Given the description of an element on the screen output the (x, y) to click on. 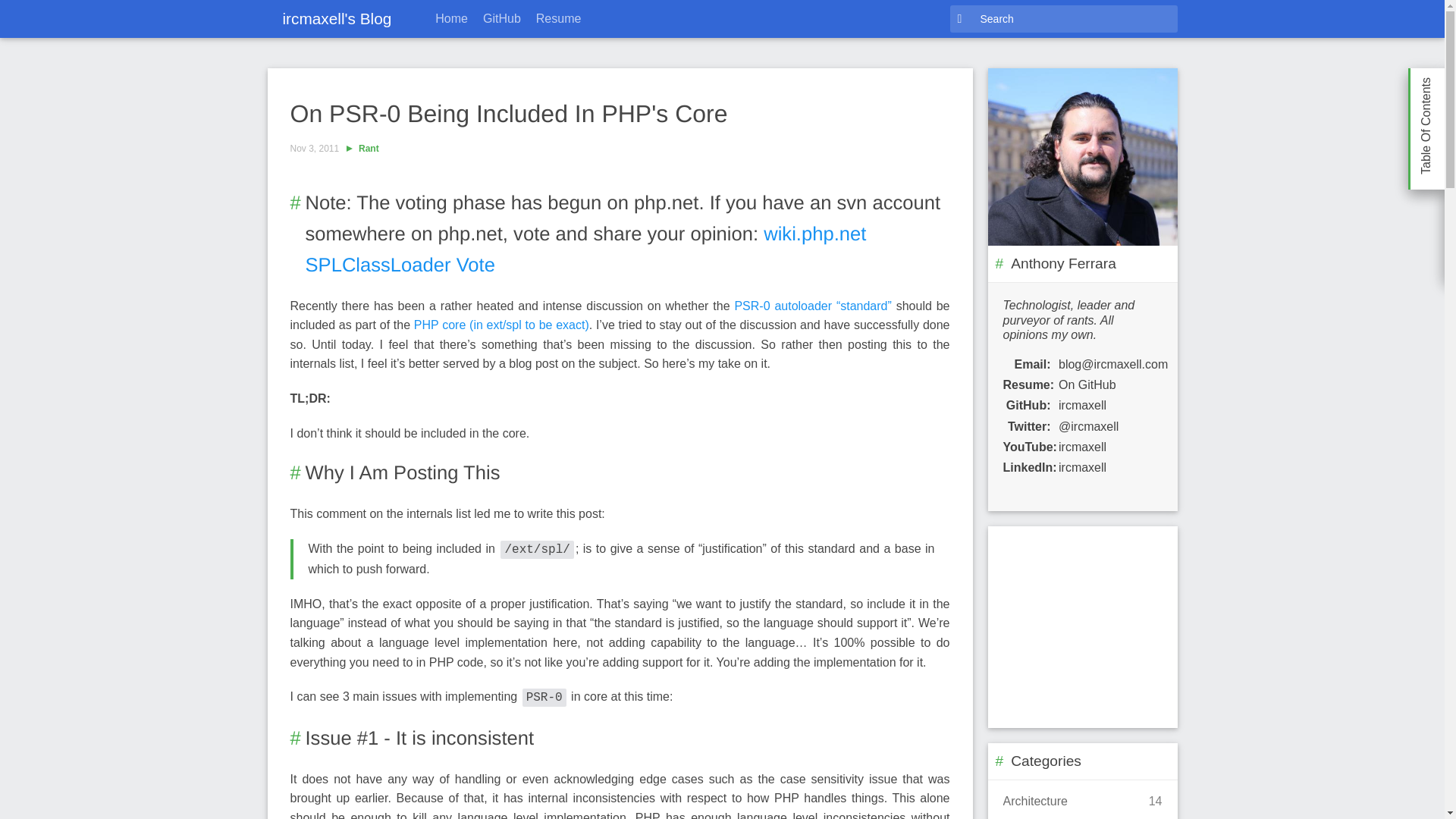
wiki.php.net SPLClassLoader Vote (585, 249)
GitHub (502, 18)
Rant (368, 148)
Home (452, 18)
Resume (558, 18)
On PSR-0 Being Included In PHP's Core (507, 113)
ircmaxell's Blog (336, 18)
